Given the description of an element on the screen output the (x, y) to click on. 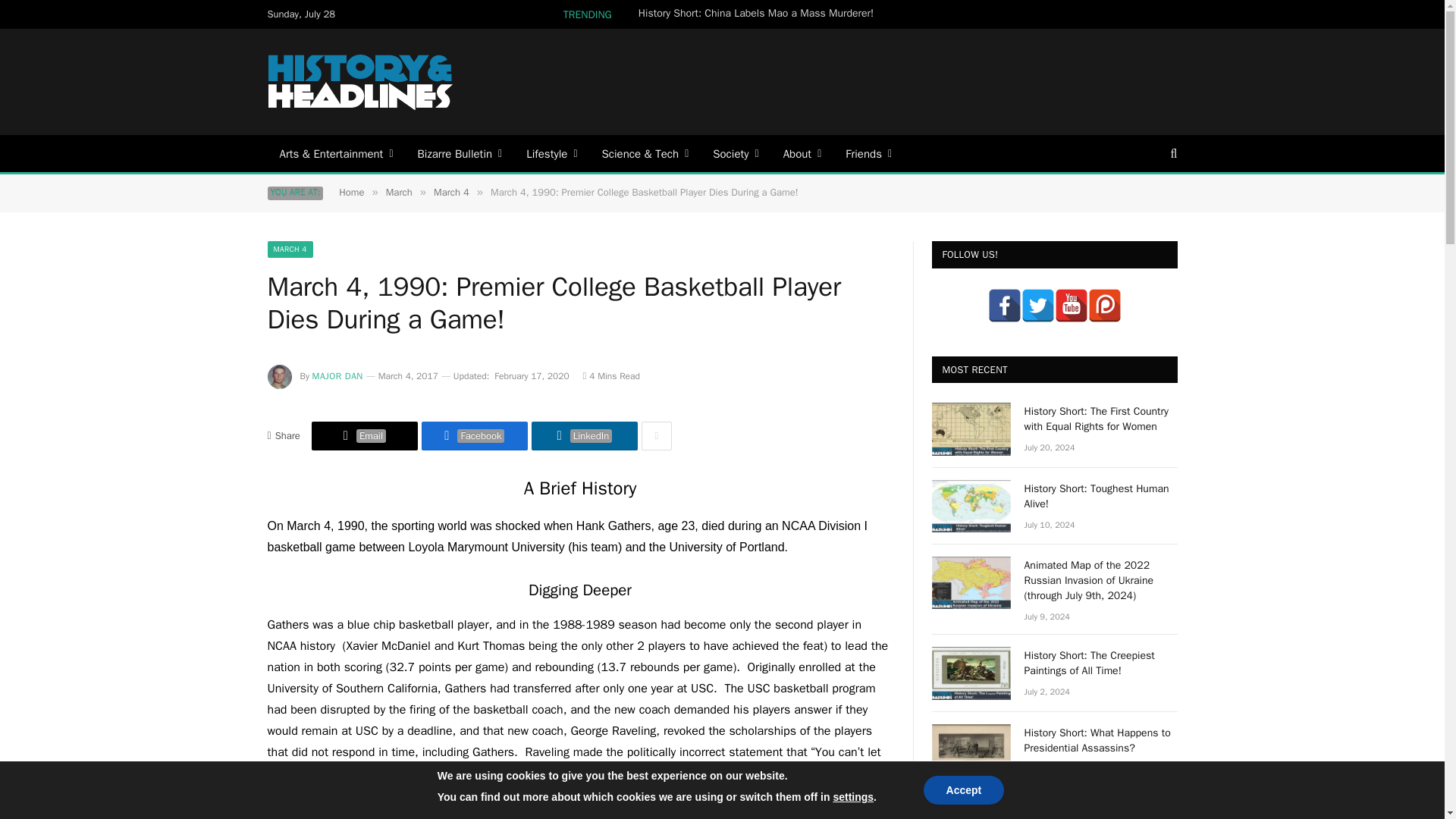
Posts by Major Dan (337, 376)
History Short: China Labels Mao a Mass Murderer! (759, 13)
Advertisement (900, 79)
Bizarre Bulletin (460, 153)
Share on Facebook (474, 435)
Society (735, 153)
Share on LinkedIn (584, 435)
History and Headlines (361, 81)
Lifestyle (551, 153)
Share via Email (364, 435)
